Given the description of an element on the screen output the (x, y) to click on. 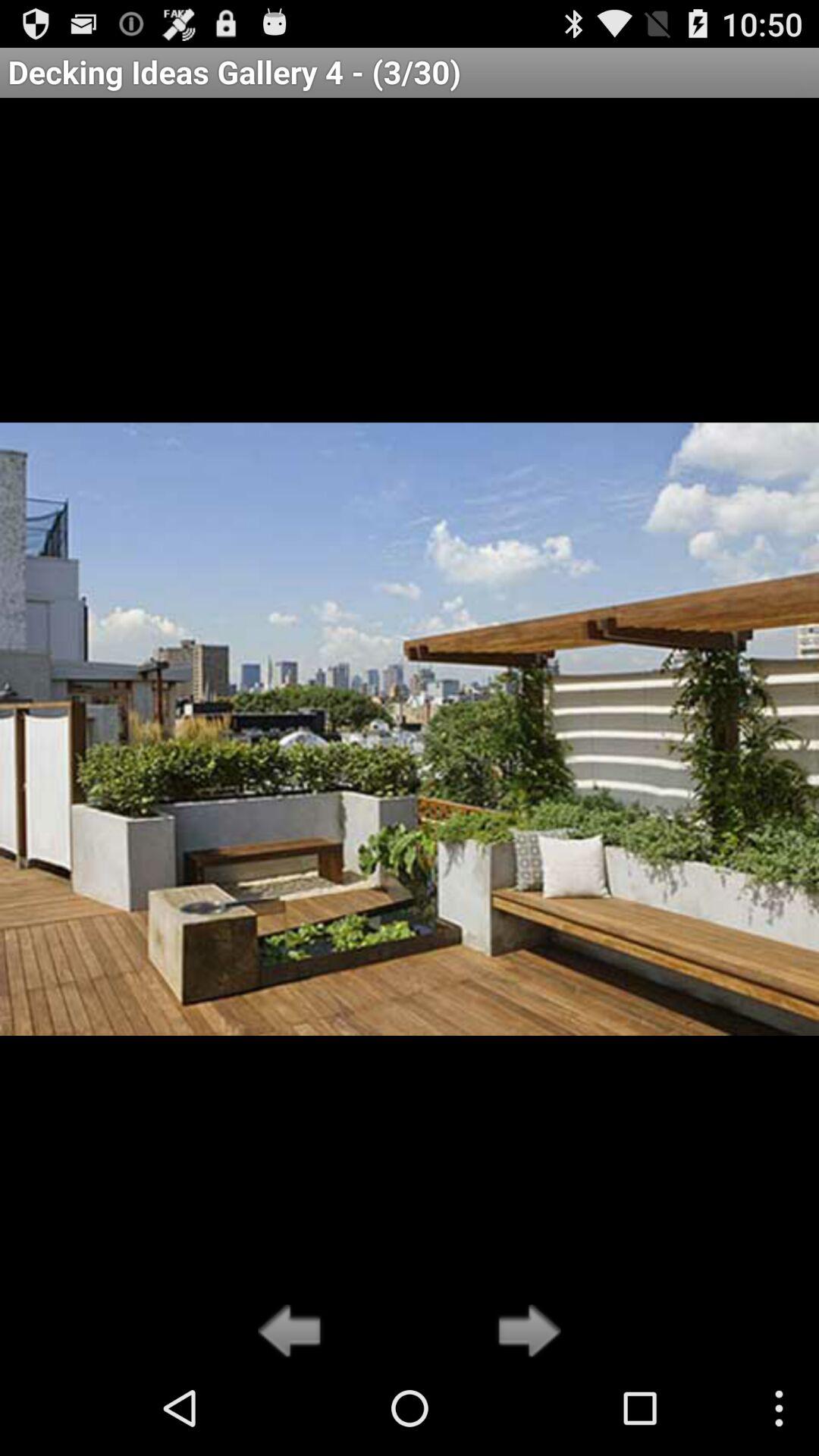
go to next photo (524, 1332)
